Given the description of an element on the screen output the (x, y) to click on. 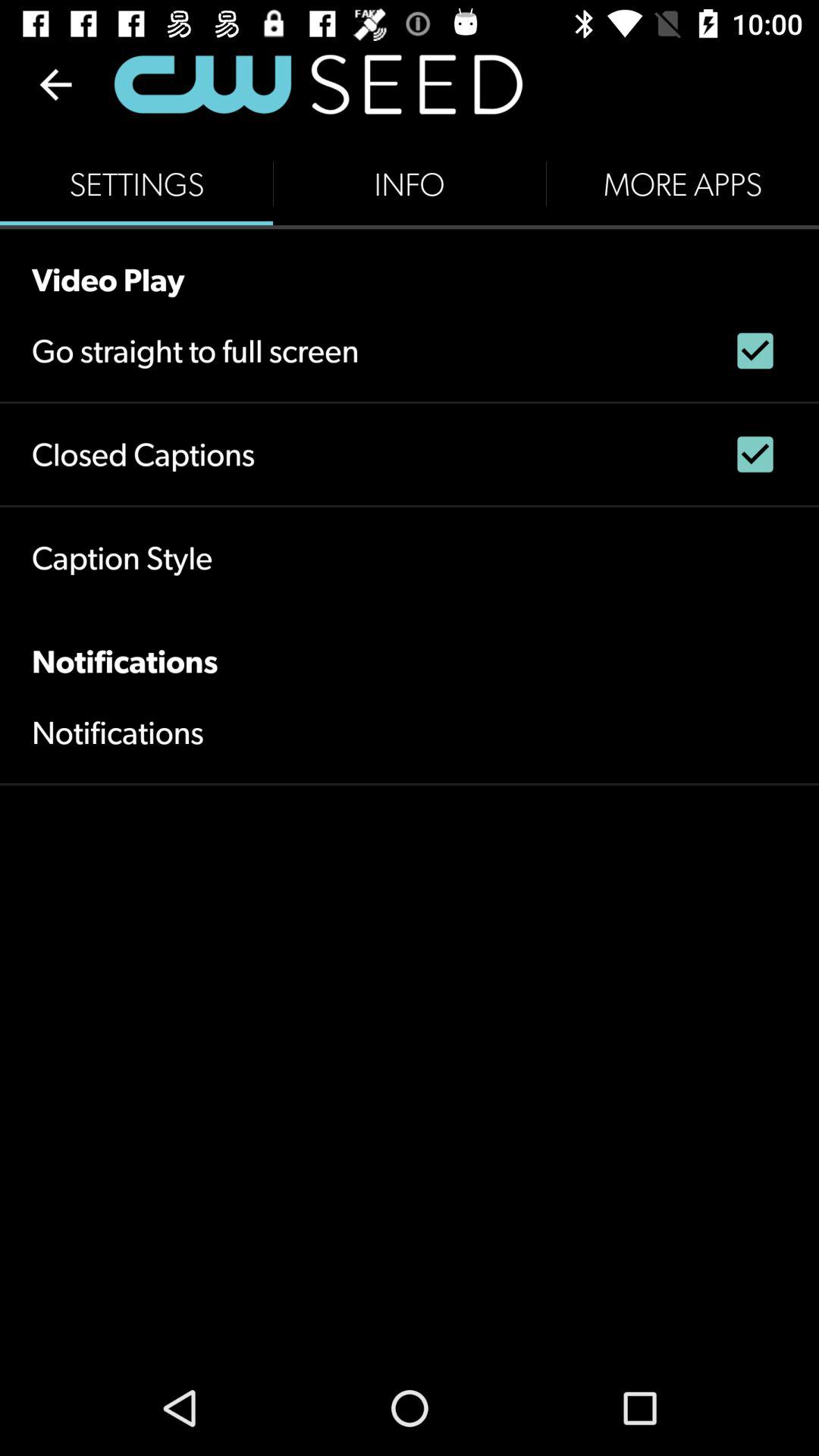
select go straight to icon (194, 350)
